Given the description of an element on the screen output the (x, y) to click on. 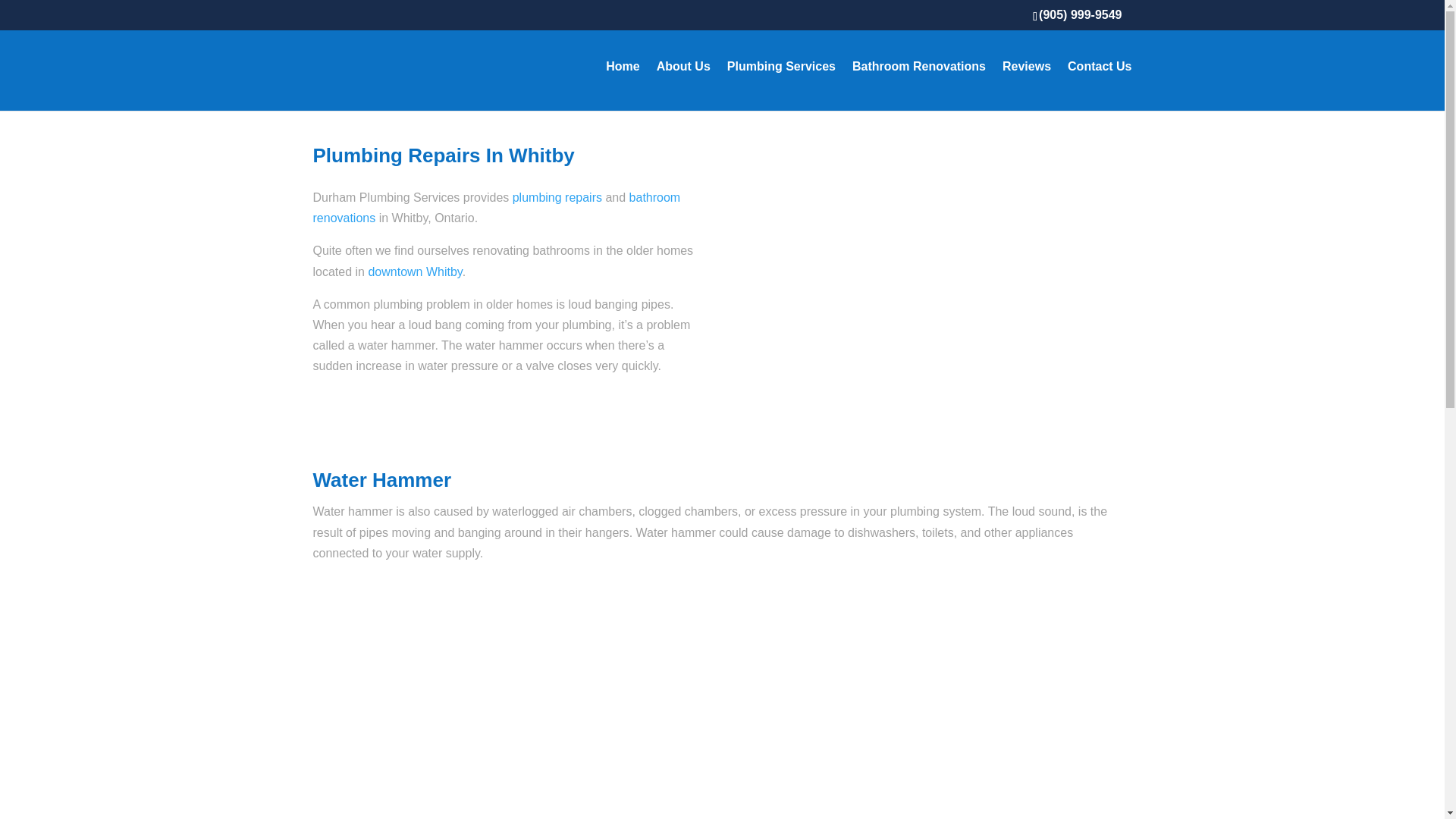
Plumbing Services (780, 85)
bathroom renovations (496, 207)
Contact Us (1099, 85)
plumbing repairs (557, 196)
Reviews (1027, 85)
About Us (683, 85)
downtown Whitby (414, 271)
Bathroom Renovations (918, 85)
